Given the description of an element on the screen output the (x, y) to click on. 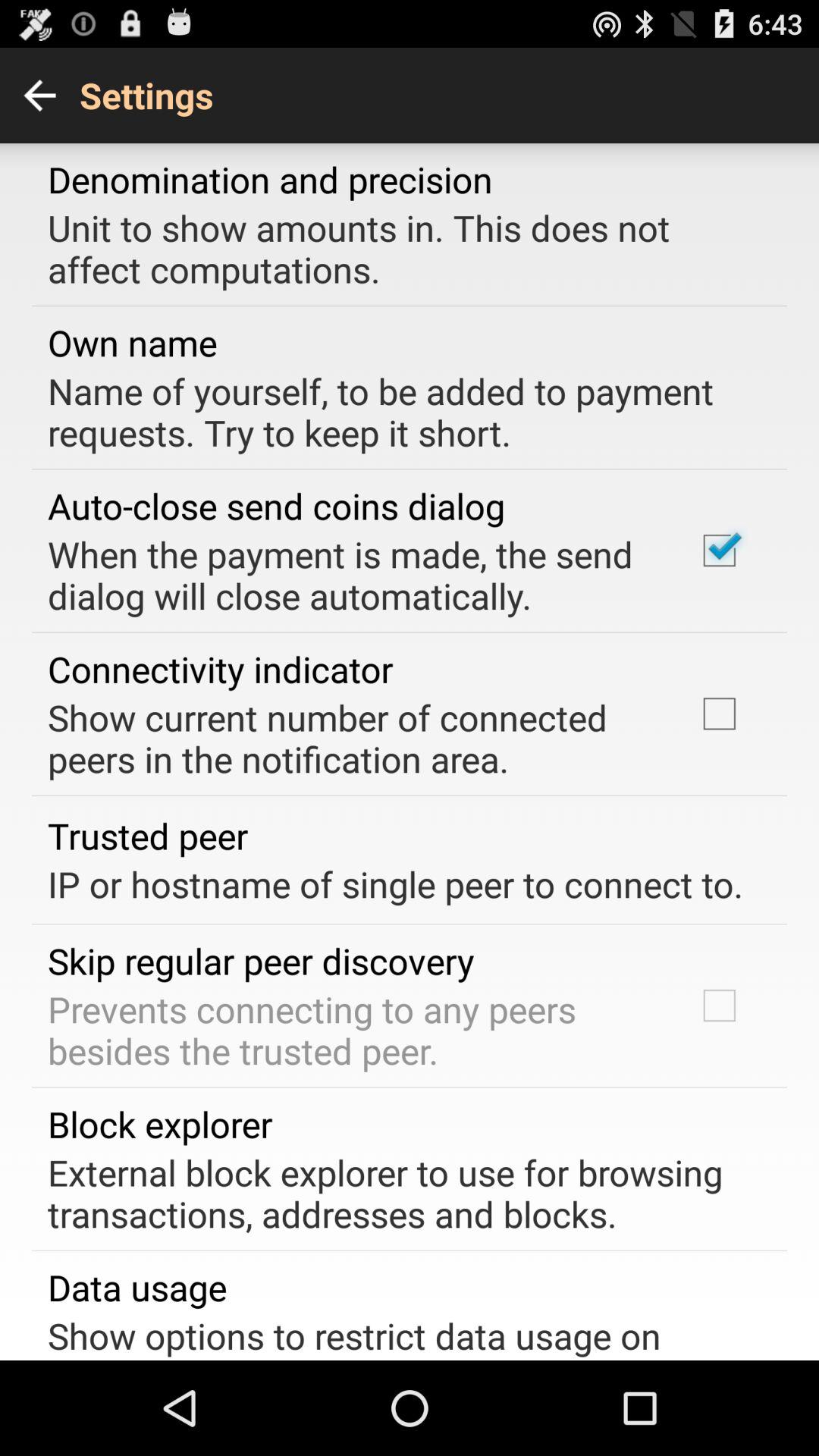
turn off icon below the connectivity indicator icon (351, 738)
